Given the description of an element on the screen output the (x, y) to click on. 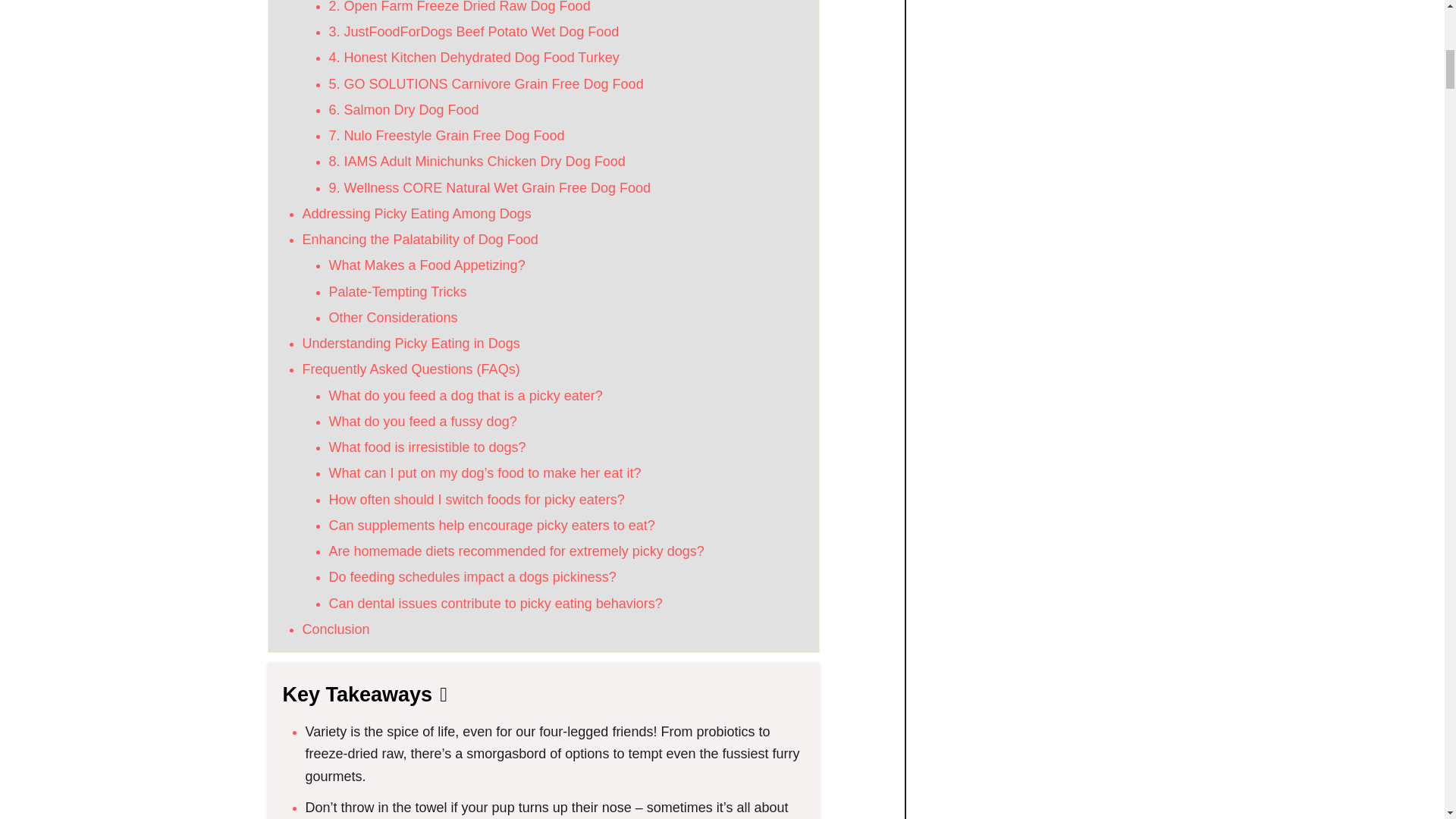
What do you feed a dog that is a picky eater? (465, 395)
Palate-Tempting Tricks (398, 291)
6. Salmon Dry Dog Food (404, 109)
What do you feed a fussy dog? (422, 421)
4. Honest Kitchen Dehydrated Dog Food Turkey (474, 57)
Addressing Picky Eating Among Dogs (416, 213)
What Makes a Food Appetizing? (427, 264)
Enhancing the Palatability of Dog Food (419, 239)
9. Wellness CORE Natural Wet Grain Free Dog Food (489, 187)
7. Nulo Freestyle Grain Free Dog Food (446, 135)
